Given the description of an element on the screen output the (x, y) to click on. 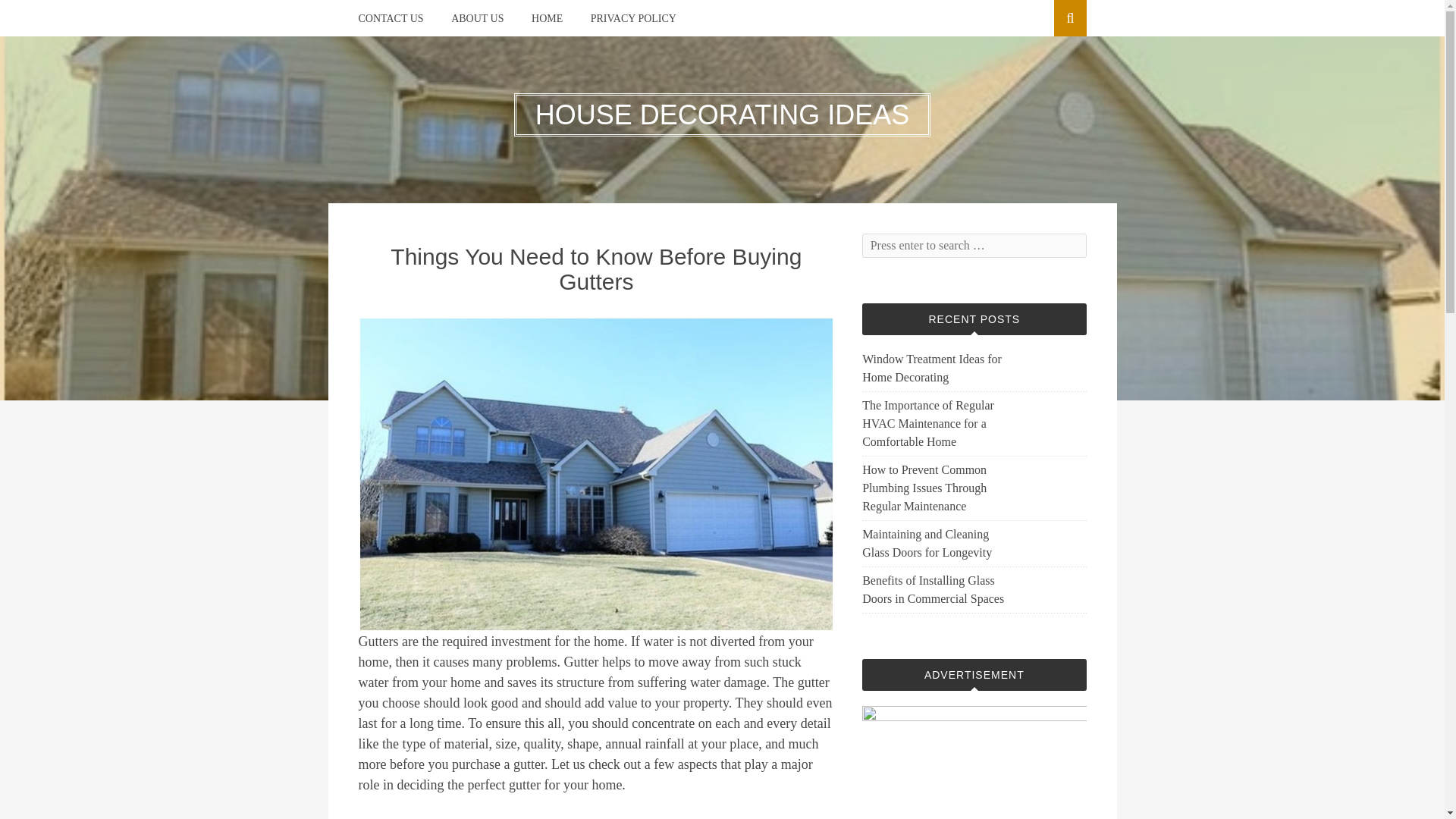
ABOUT US (477, 18)
CONTACT US (390, 18)
Window Treatment Ideas for Home Decorating (934, 368)
HOUSE DECORATING IDEAS (721, 113)
Benefits of Installing Glass Doors in Commercial Spaces (934, 589)
PRIVACY POLICY (634, 18)
Maintaining and Cleaning Glass Doors for Longevity (934, 543)
HOME (546, 18)
Search for: (973, 245)
